Given the description of an element on the screen output the (x, y) to click on. 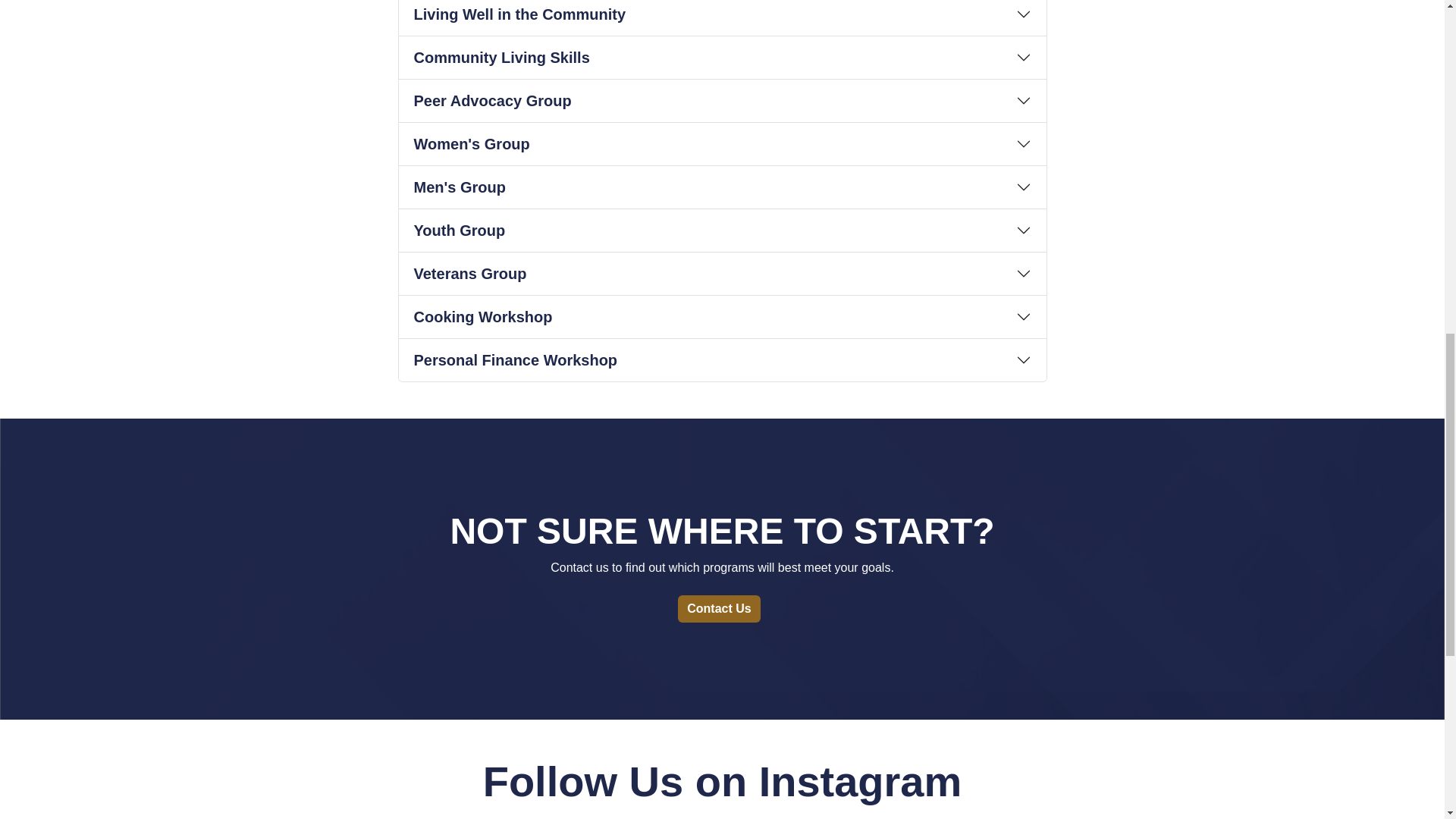
Veterans Group (722, 273)
Living Well in the Community (722, 18)
Men's Group (722, 187)
Youth Group (722, 230)
Cooking Workshop (722, 316)
Women's Group (722, 143)
Peer Advocacy Group (722, 100)
Community Living Skills (722, 57)
Personal Finance Workshop (722, 360)
Contact Us (719, 608)
